Given the description of an element on the screen output the (x, y) to click on. 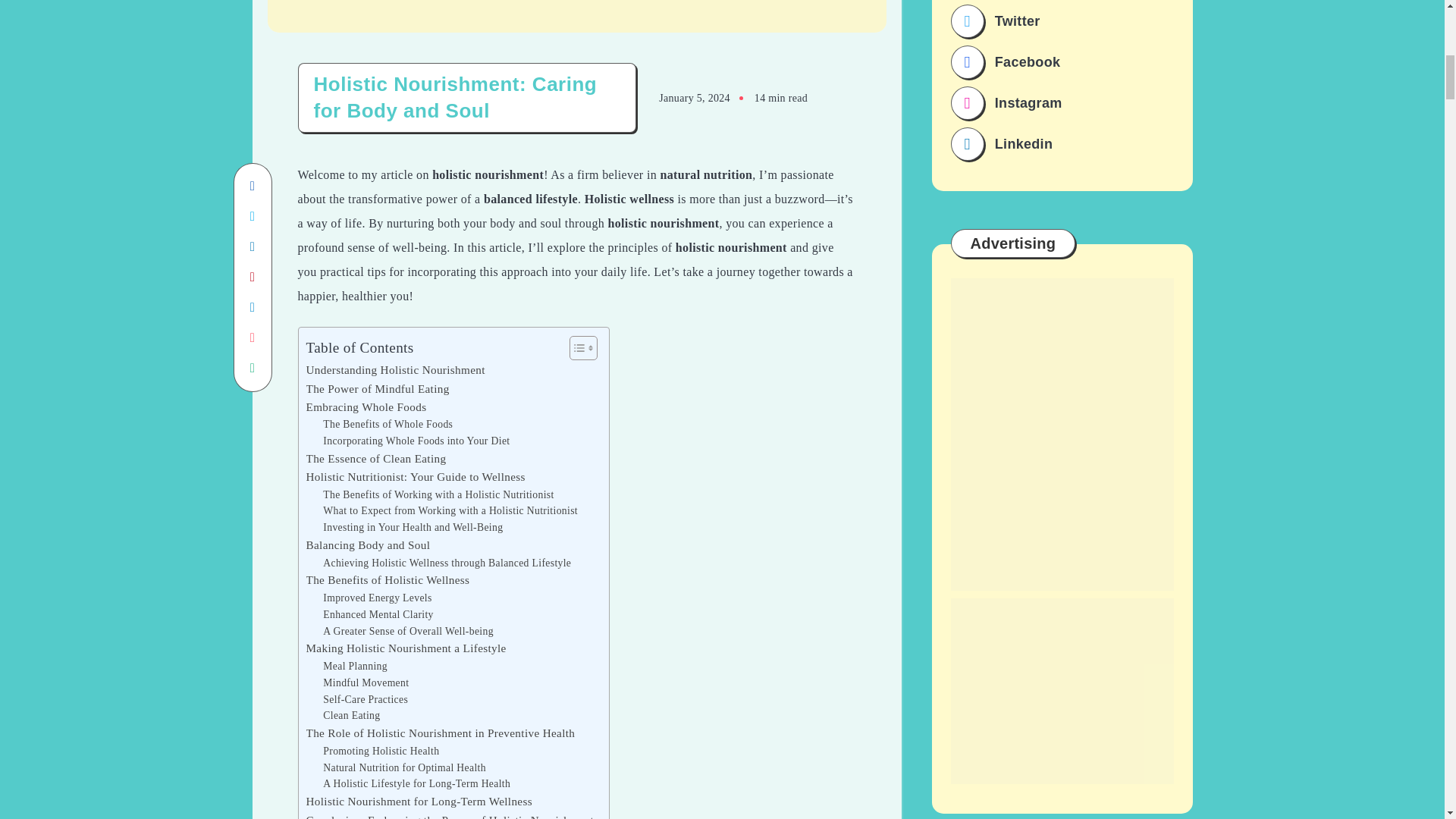
Holistic Nutritionist: Your Guide to Wellness (415, 476)
Share on Facebook (251, 186)
Share on Telegram (251, 307)
What to Expect from Working with a Holistic Nutritionist (450, 510)
Investing in Your Health and Well-Being (412, 527)
Understanding Holistic Nourishment (394, 370)
The Essence of Clean Eating (375, 458)
Embracing Whole Foods (365, 407)
Share on WhatsApp (251, 368)
The Benefits of Whole Foods (387, 424)
Share on Linkedin (251, 246)
The Benefits of Working with a Holistic Nutritionist (438, 494)
Incorporating Whole Foods into Your Diet (416, 441)
The Power of Mindful Eating (377, 389)
Share on Twitter (251, 216)
